Given the description of an element on the screen output the (x, y) to click on. 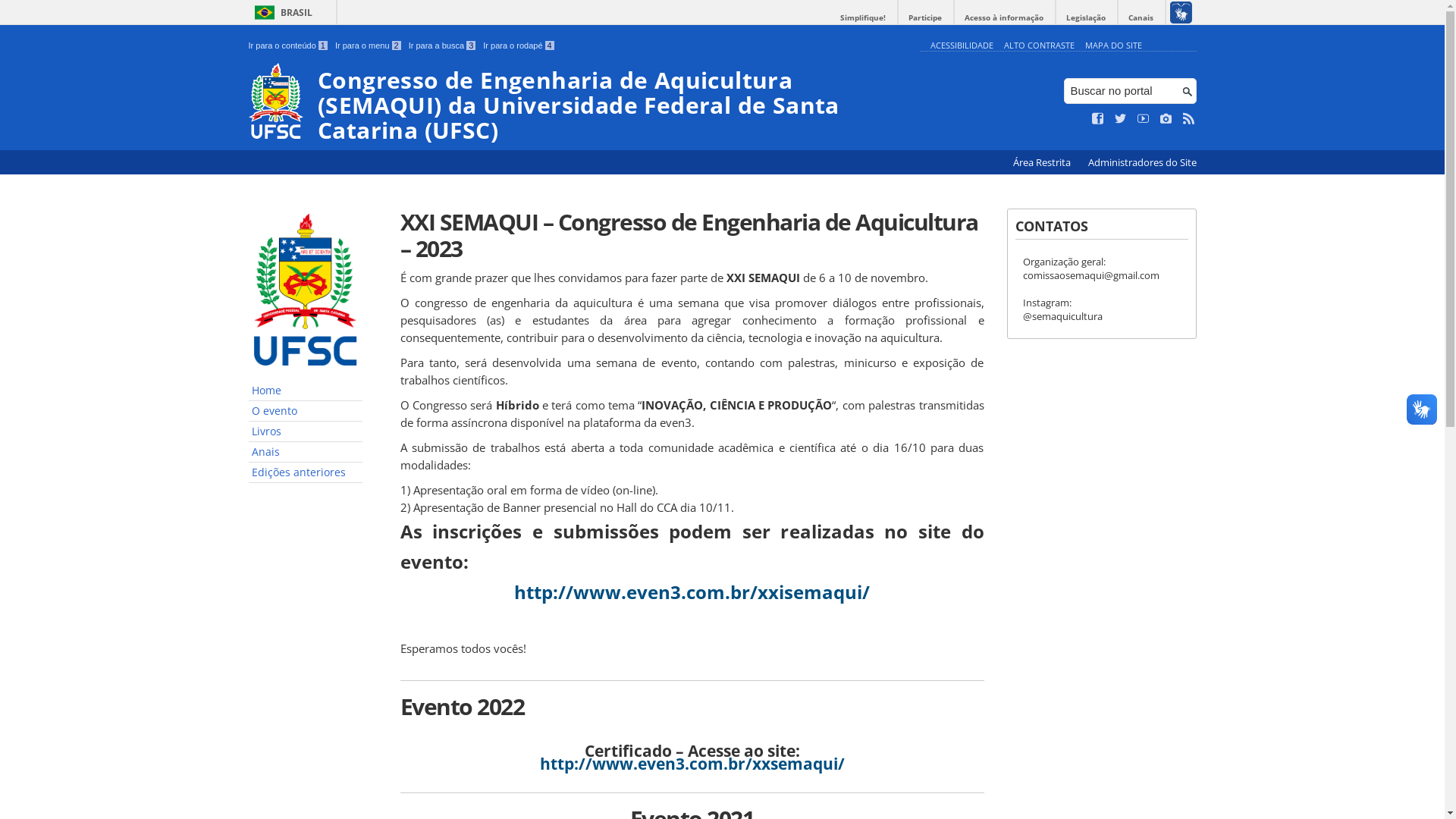
MAPA DO SITE Element type: text (1112, 44)
Evento 2022 Element type: text (692, 706)
Ir para o menu 2 Element type: text (368, 45)
ACESSIBILIDADE Element type: text (960, 44)
O evento Element type: text (305, 411)
Simplifique! Element type: text (862, 18)
ALTO CONTRASTE Element type: text (1039, 44)
Livros Element type: text (305, 431)
Veja no Instagram Element type: hover (1166, 118)
Anais Element type: text (305, 452)
Administradores do Site Element type: text (1141, 162)
Curta no Facebook Element type: hover (1098, 118)
Ir para a busca 3 Element type: text (442, 45)
Home Element type: text (305, 390)
Canais Element type: text (1140, 18)
BRASIL Element type: text (280, 12)
http://www.even3.com.br/xxsemaqui/ Element type: text (691, 762)
http://www.even3.com.br/xxisemaqui/ Element type: text (691, 591)
Participe Element type: text (924, 18)
Siga no Twitter Element type: hover (1120, 118)
